Given the description of an element on the screen output the (x, y) to click on. 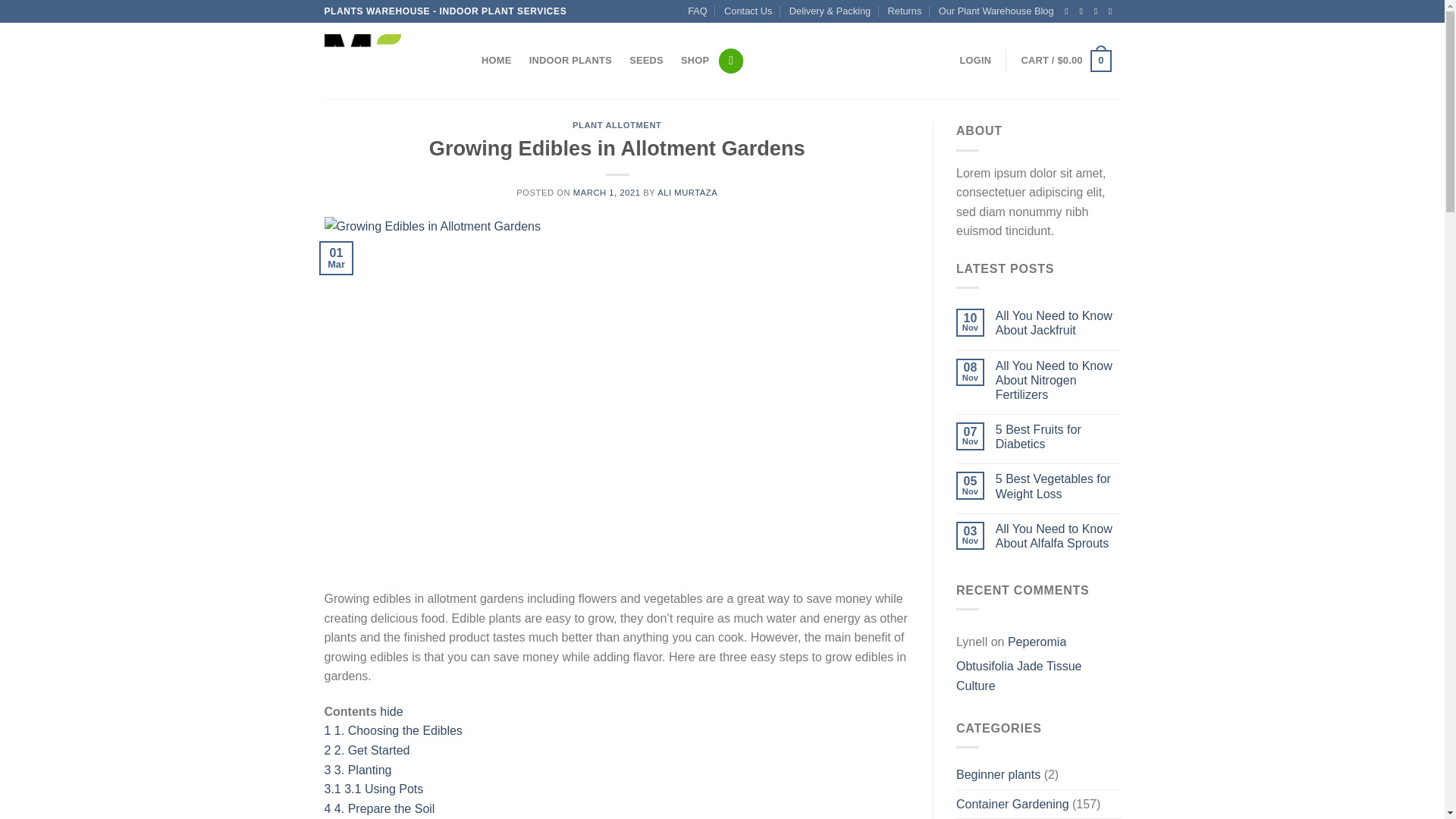
PLANT ALLOTMENT (616, 124)
MARCH 1, 2021 (606, 192)
All You Need to Know About Jackfruit (1058, 322)
4 4. Prepare the Soil (379, 808)
1 1. Choosing the Edibles (393, 730)
Our Plant Warehouse Blog (996, 11)
ALI MURTAZA (687, 192)
3 3. Planting (357, 769)
HOME (497, 60)
Returns (904, 11)
